Given the description of an element on the screen output the (x, y) to click on. 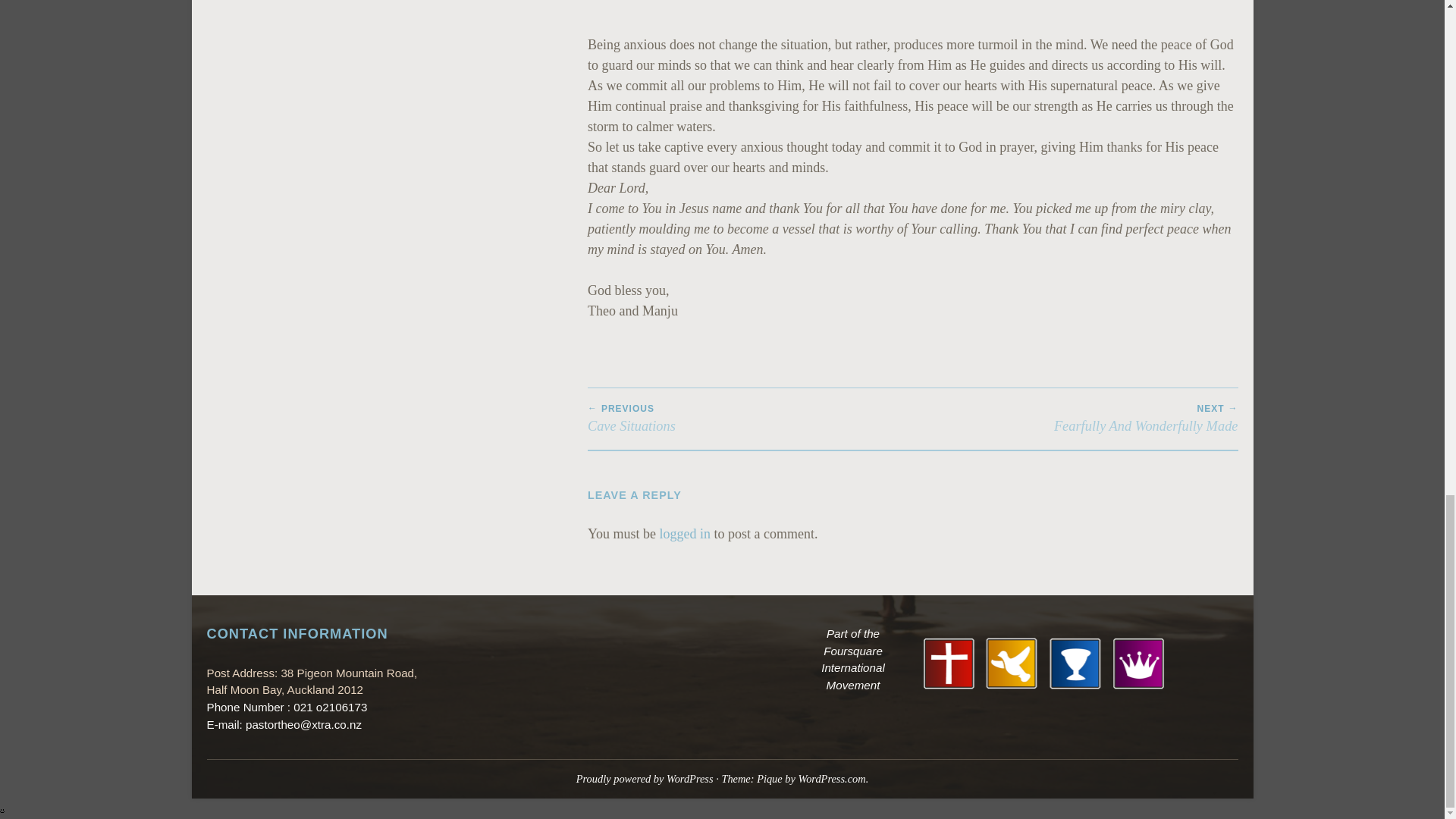
Foursquare New Zealand (1075, 418)
logged in (1042, 663)
Proudly powered by WordPress (685, 533)
WordPress.com (644, 778)
